Given the description of an element on the screen output the (x, y) to click on. 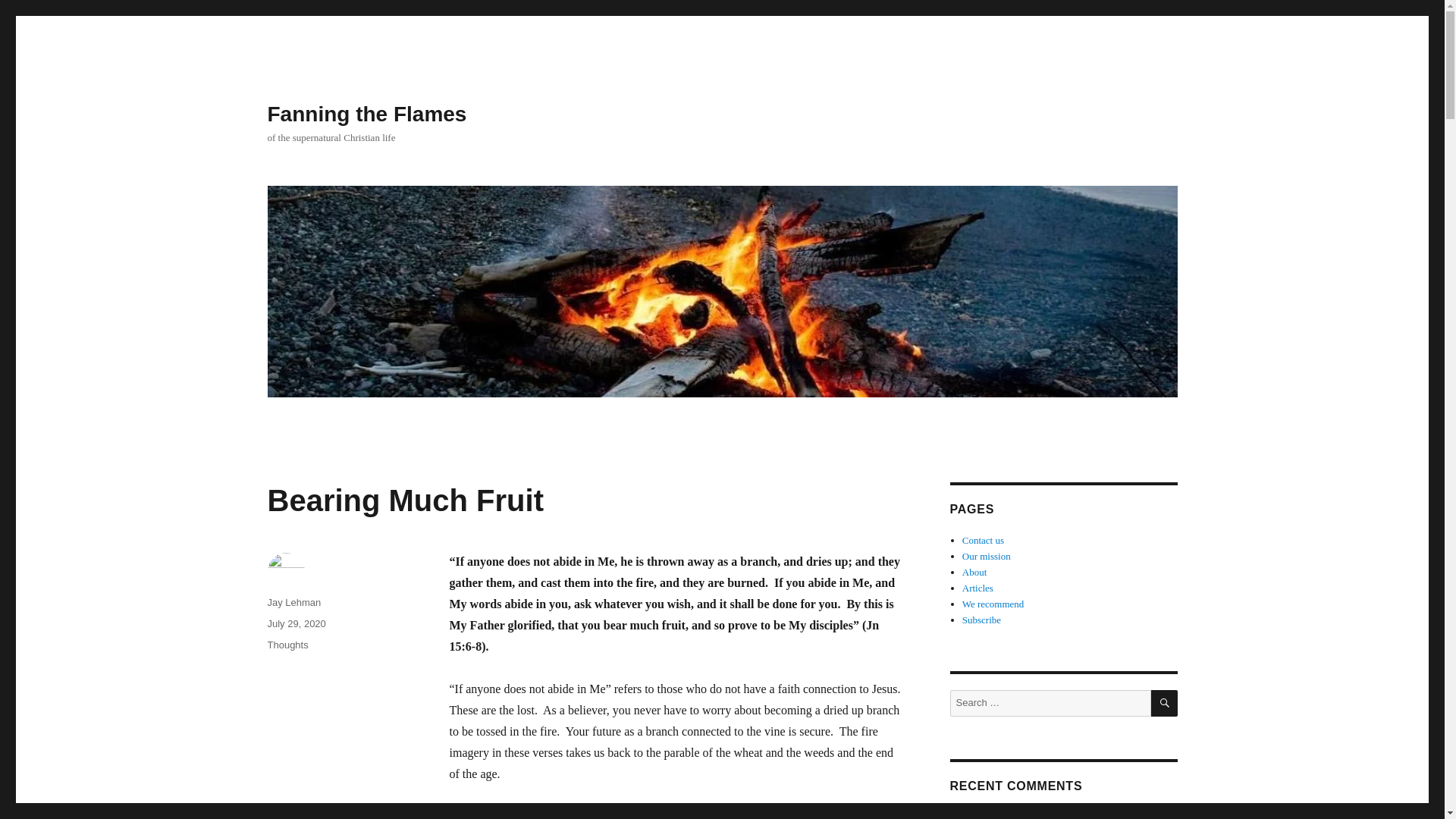
July 29, 2020 (295, 623)
Subscribe (981, 619)
We recommend (993, 603)
Articles (977, 587)
SEARCH (1164, 703)
Contact us (983, 540)
Fanning the Flames (365, 114)
Our mission (986, 555)
The End of the Old Covenant (1107, 815)
Thoughts (286, 644)
